Given the description of an element on the screen output the (x, y) to click on. 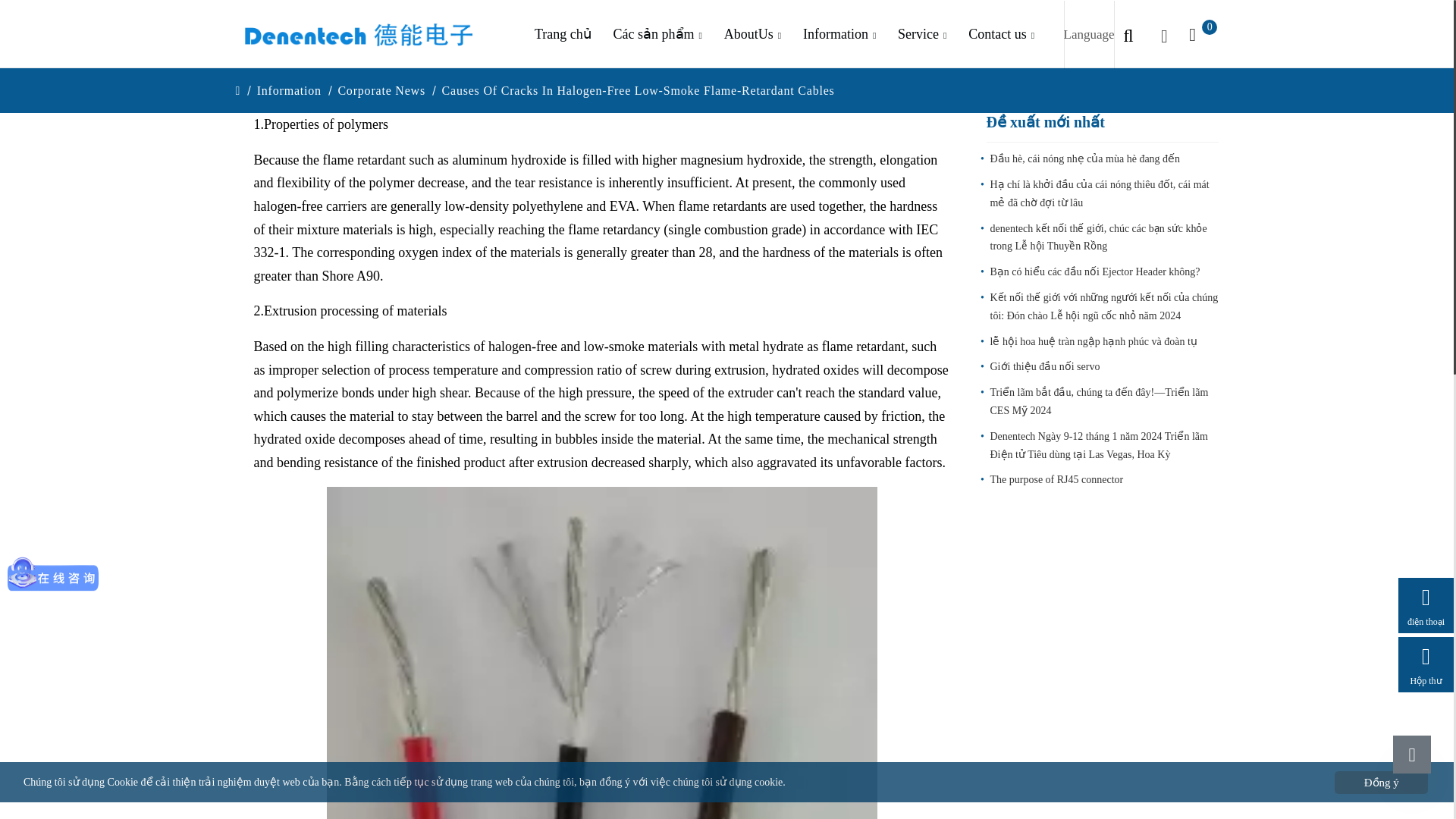
Denentech Electronic Technology Co., LTd (357, 34)
